Given the description of an element on the screen output the (x, y) to click on. 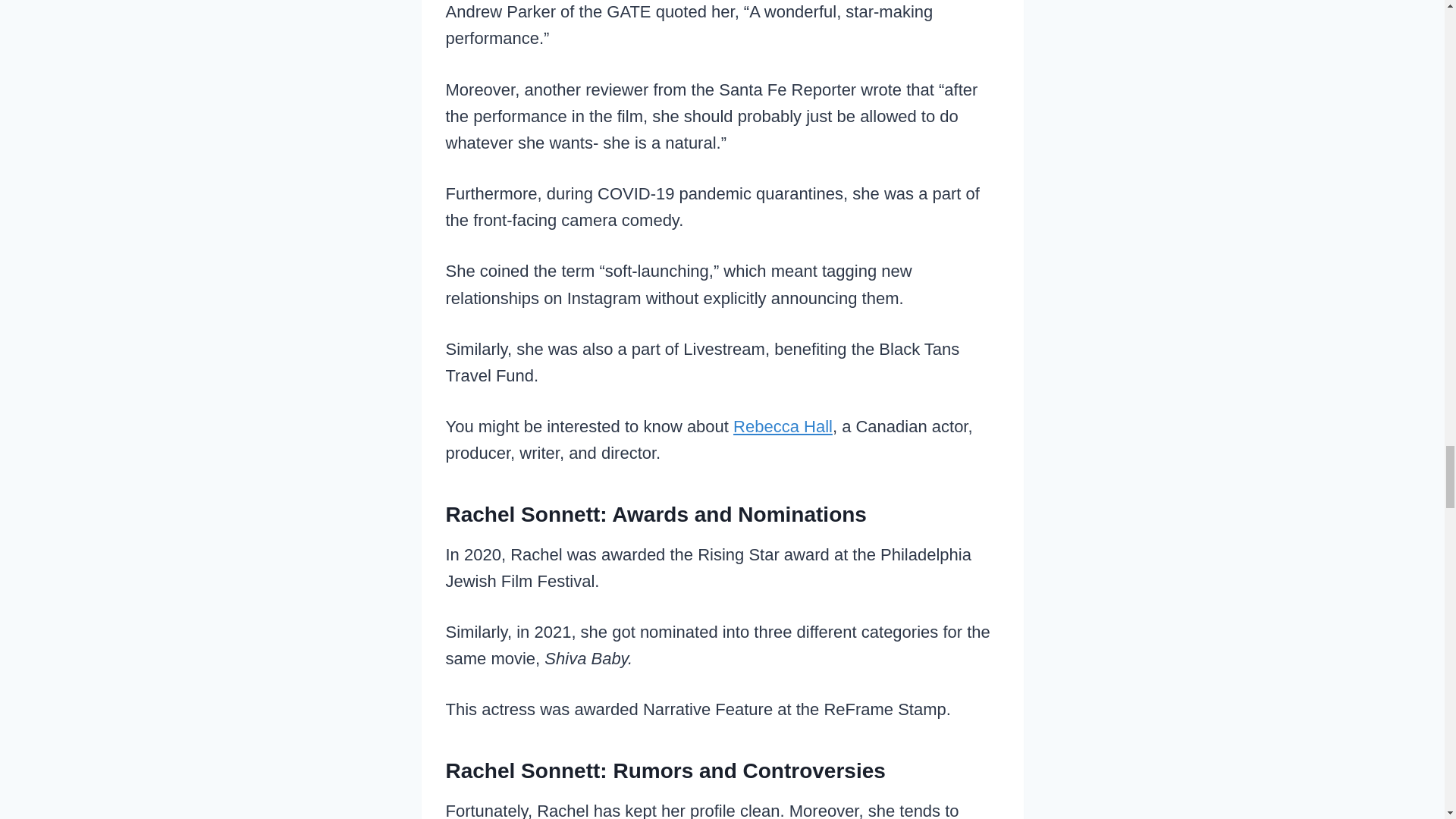
Rebecca Hall (782, 425)
